Given the description of an element on the screen output the (x, y) to click on. 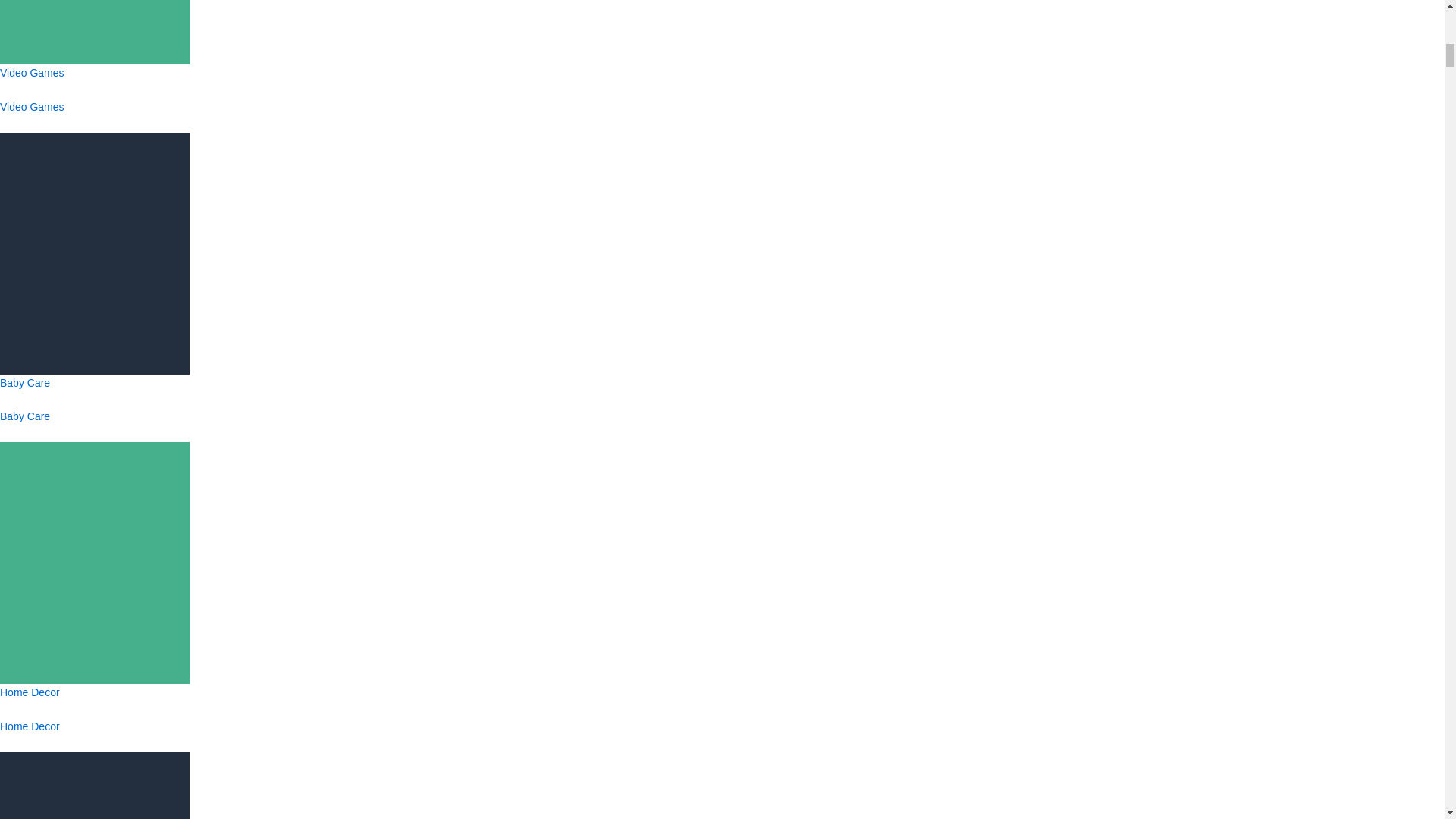
Video Games (94, 103)
